Given the description of an element on the screen output the (x, y) to click on. 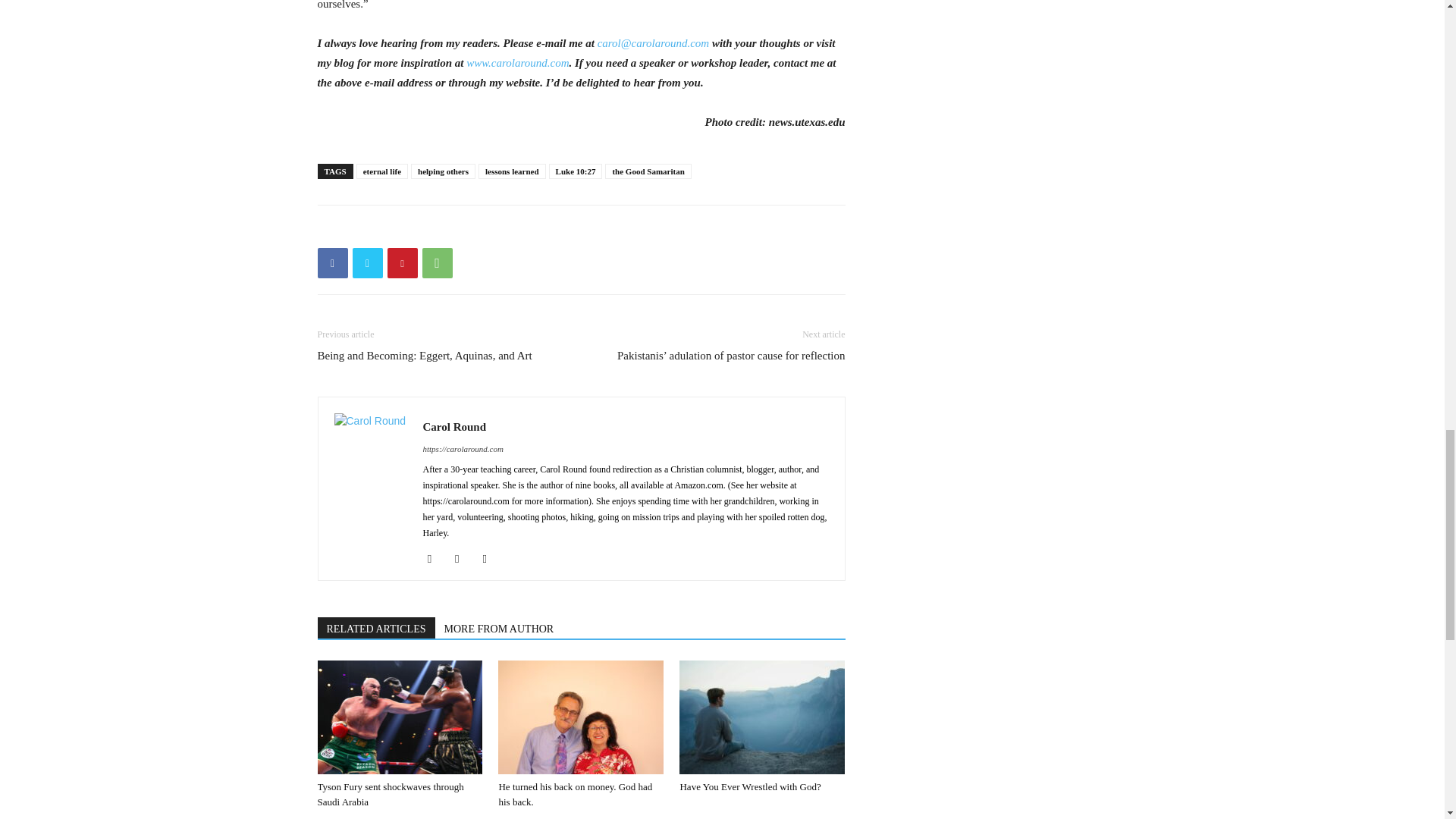
Twitter (366, 263)
WhatsApp (436, 263)
Luke 10:27 (575, 171)
helping others (443, 171)
bottomFacebookLike (430, 229)
www.carolaround.com (517, 62)
lessons learned (512, 171)
Facebook (332, 263)
Pinterest (401, 263)
eternal life (381, 171)
